Given the description of an element on the screen output the (x, y) to click on. 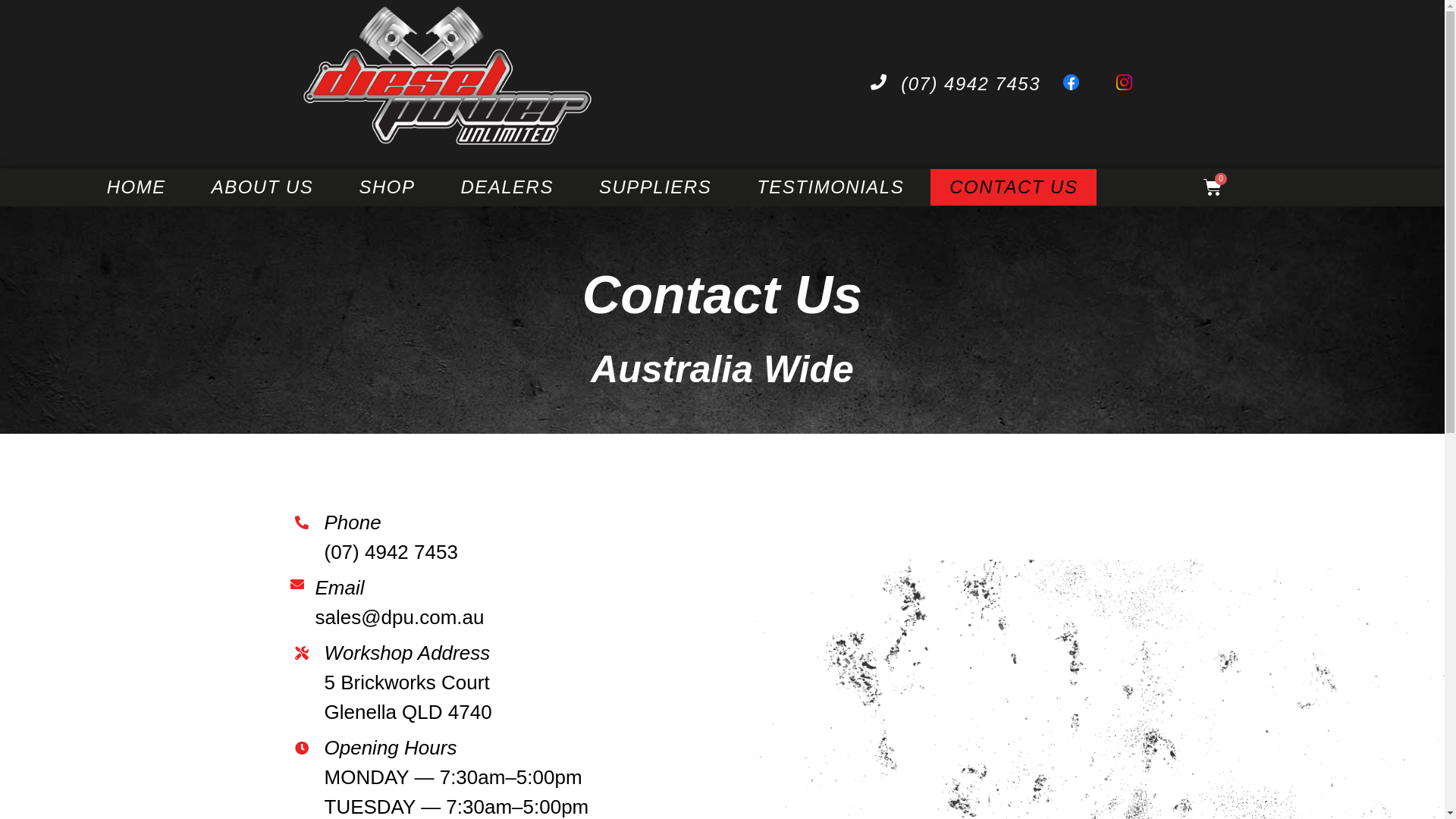
ABOUT US Element type: text (262, 187)
SUPPLIERS Element type: text (655, 187)
CONTACT US Element type: text (1013, 187)
Email Element type: text (339, 587)
View the Diesel Power Unlimited Facebook page Element type: hover (1078, 83)
0 Element type: text (1212, 187)
(07) 4942 7453 Element type: text (955, 83)
Phone Element type: text (352, 522)
View the Diesel Power Unlimited Instagram page Element type: hover (1131, 83)
HOME Element type: text (136, 187)
TESTIMONIALS Element type: text (829, 187)
DEALERS Element type: text (506, 187)
SHOP Element type: text (386, 187)
